Given the description of an element on the screen output the (x, y) to click on. 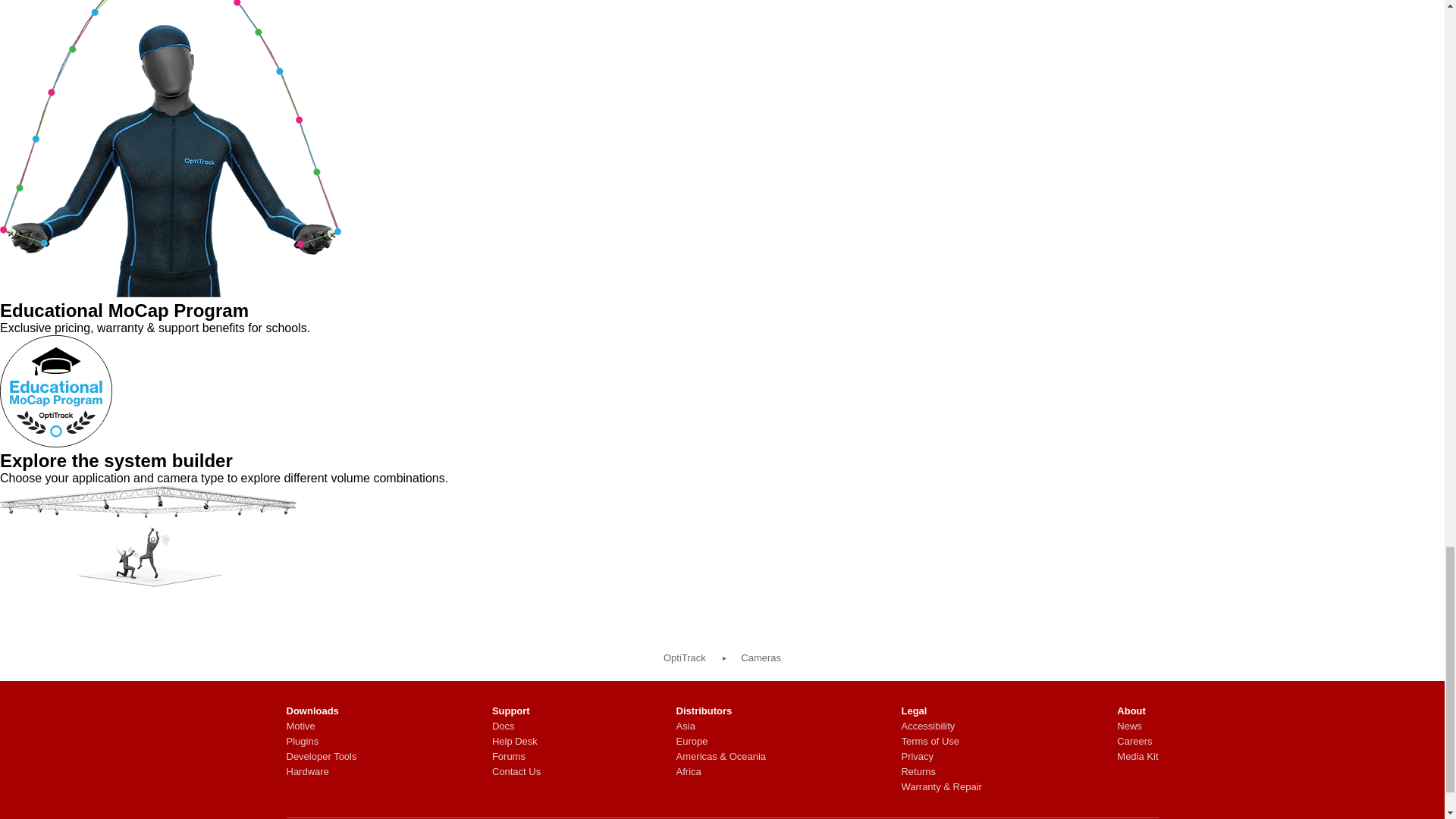
Asia (722, 726)
Developer Tools (321, 756)
Support (516, 711)
Downloads (321, 711)
Help Desk (516, 741)
Docs (516, 726)
Plugins (321, 741)
Legal (941, 711)
Distributors (722, 711)
Hardware (321, 771)
Africa (722, 771)
Europe (722, 741)
Contact Us (516, 771)
Accessibility (941, 726)
Motive (321, 726)
